Given the description of an element on the screen output the (x, y) to click on. 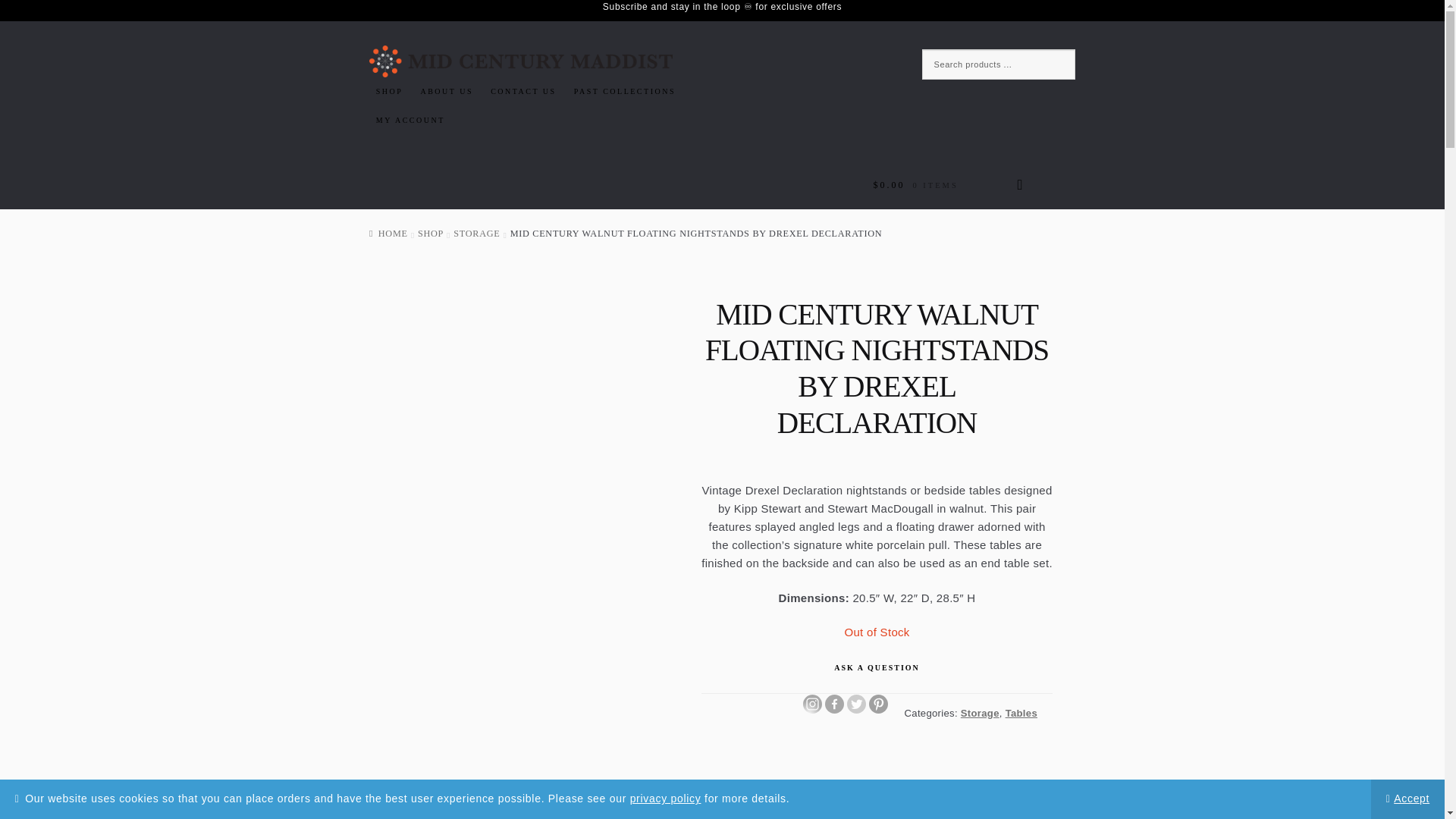
ABOUT US (446, 91)
Pinterest (878, 703)
STORAGE (475, 233)
SHOP (389, 91)
MY ACCOUNT (410, 120)
SHOP (430, 233)
PAST COLLECTIONS (624, 91)
HOME (388, 233)
CONTACT US (522, 91)
Facebook (834, 703)
